Given the description of an element on the screen output the (x, y) to click on. 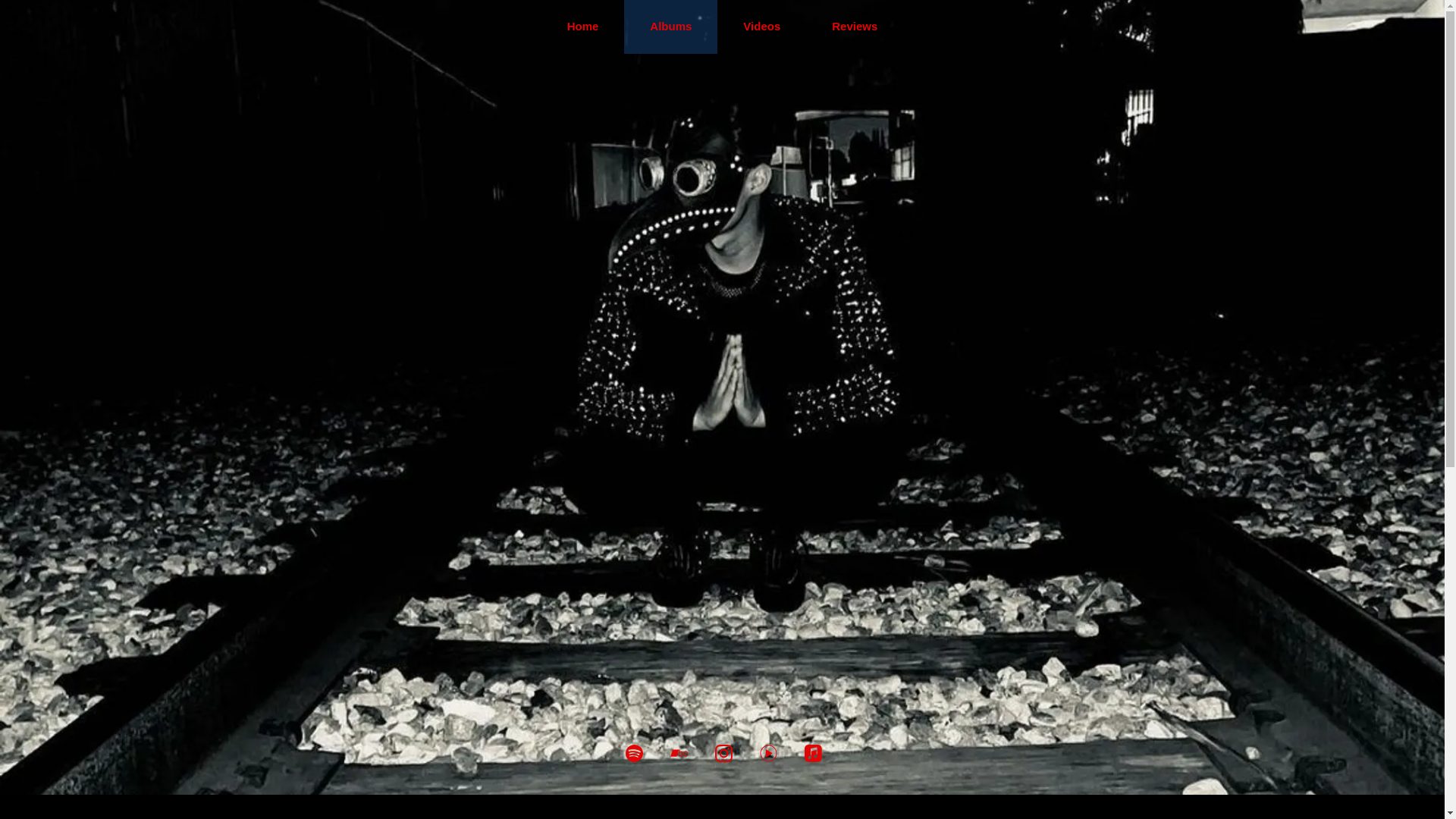
Reviews (854, 27)
Videos (761, 27)
Albums (670, 27)
Home (582, 27)
